Given the description of an element on the screen output the (x, y) to click on. 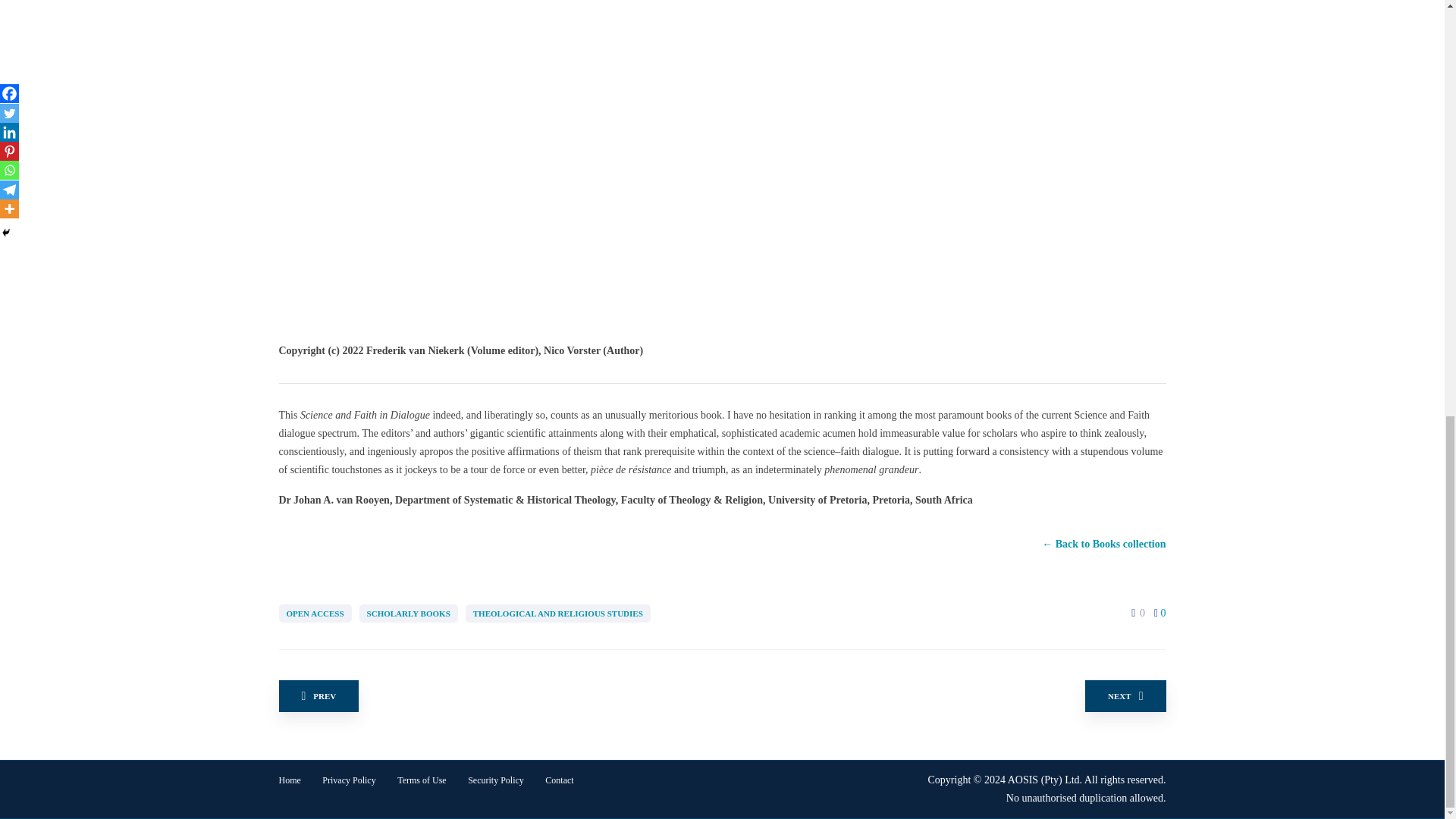
0 comments (1160, 613)
  Likes (1132, 613)
